Given the description of an element on the screen output the (x, y) to click on. 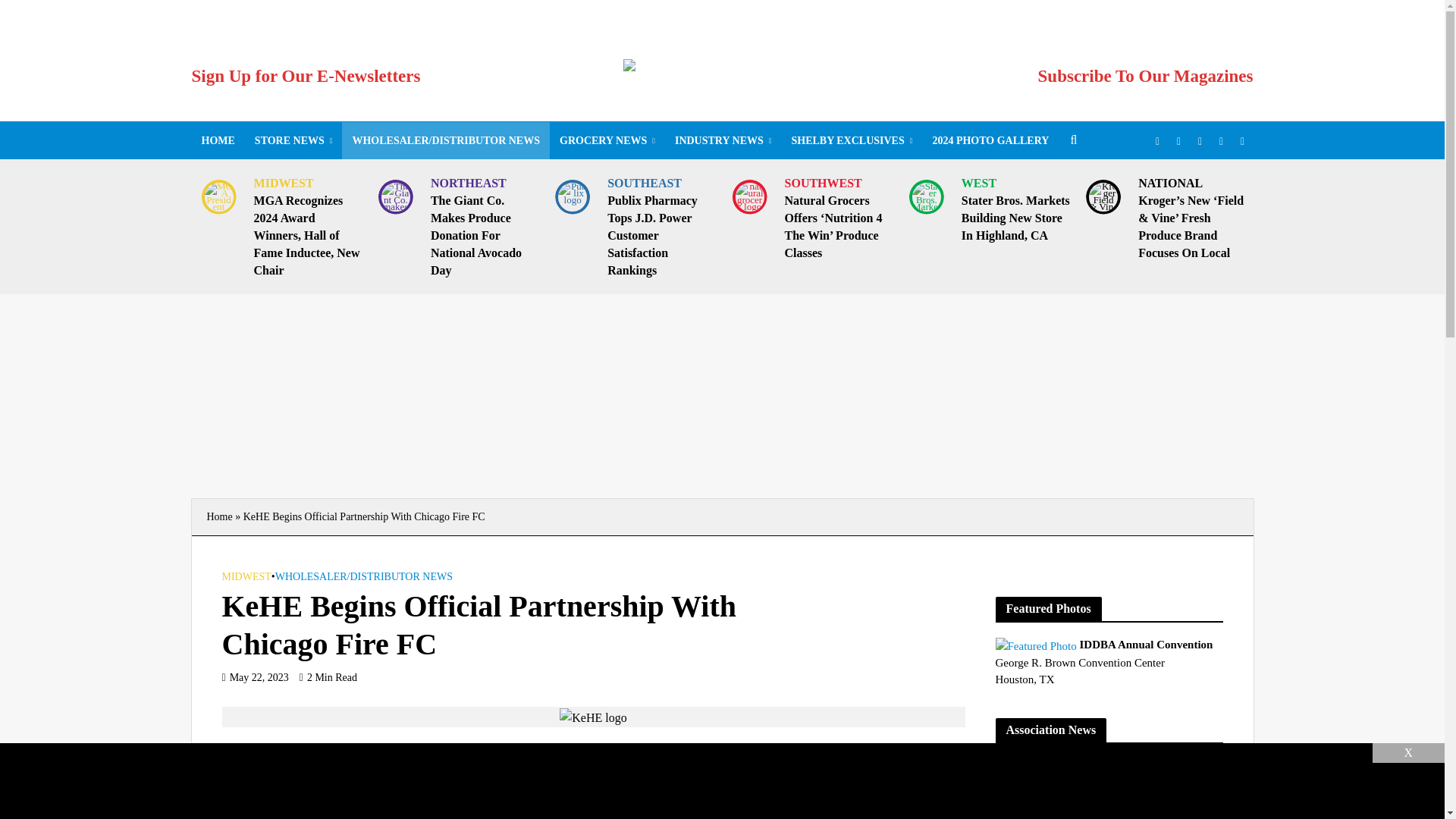
Sign Up for Our E-Newsletters (305, 76)
GROCERY NEWS (607, 140)
Subscribe To Our Magazines (1145, 76)
STORE NEWS (293, 140)
SHELBY EXCLUSIVES (850, 140)
INDUSTRY NEWS (723, 140)
HOME (217, 140)
